Given the description of an element on the screen output the (x, y) to click on. 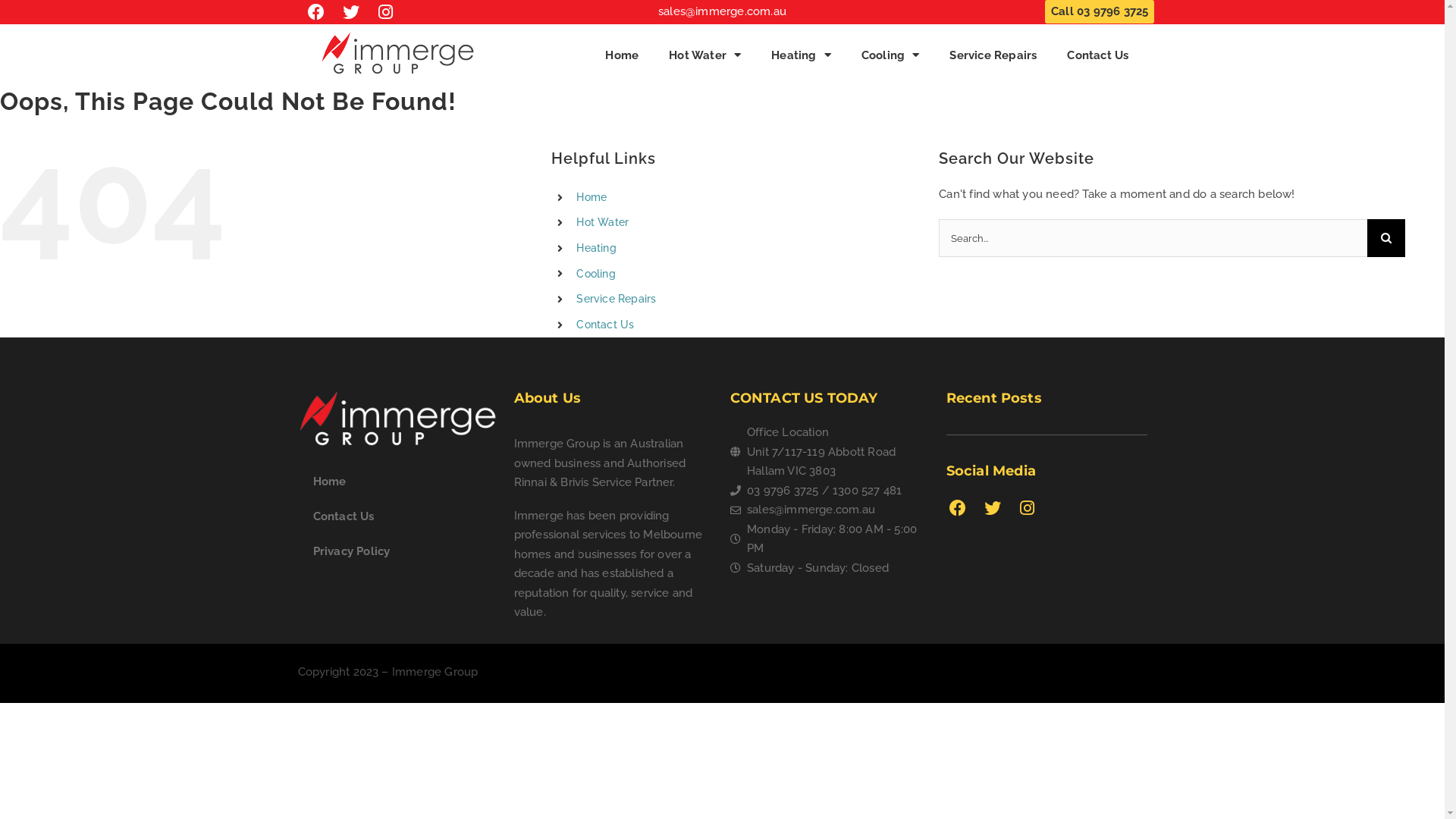
Call 03 9796 3725 Element type: text (1099, 11)
Home Element type: text (397, 481)
Contact Us Element type: text (1097, 54)
Contact Us Element type: text (604, 324)
Heating Element type: text (595, 247)
Hot Water Element type: text (704, 54)
Cooling Element type: text (595, 273)
Service Repairs Element type: text (992, 54)
Home Element type: text (621, 54)
Heating Element type: text (801, 54)
Home Element type: text (591, 197)
Contact Us Element type: text (397, 515)
Hot Water Element type: text (602, 222)
sales@immerge.com.au Element type: text (722, 11)
Cooling Element type: text (890, 54)
sales@immerge.com.au Element type: text (829, 510)
Privacy Policy Element type: text (397, 550)
Service Repairs Element type: text (615, 298)
